Given the description of an element on the screen output the (x, y) to click on. 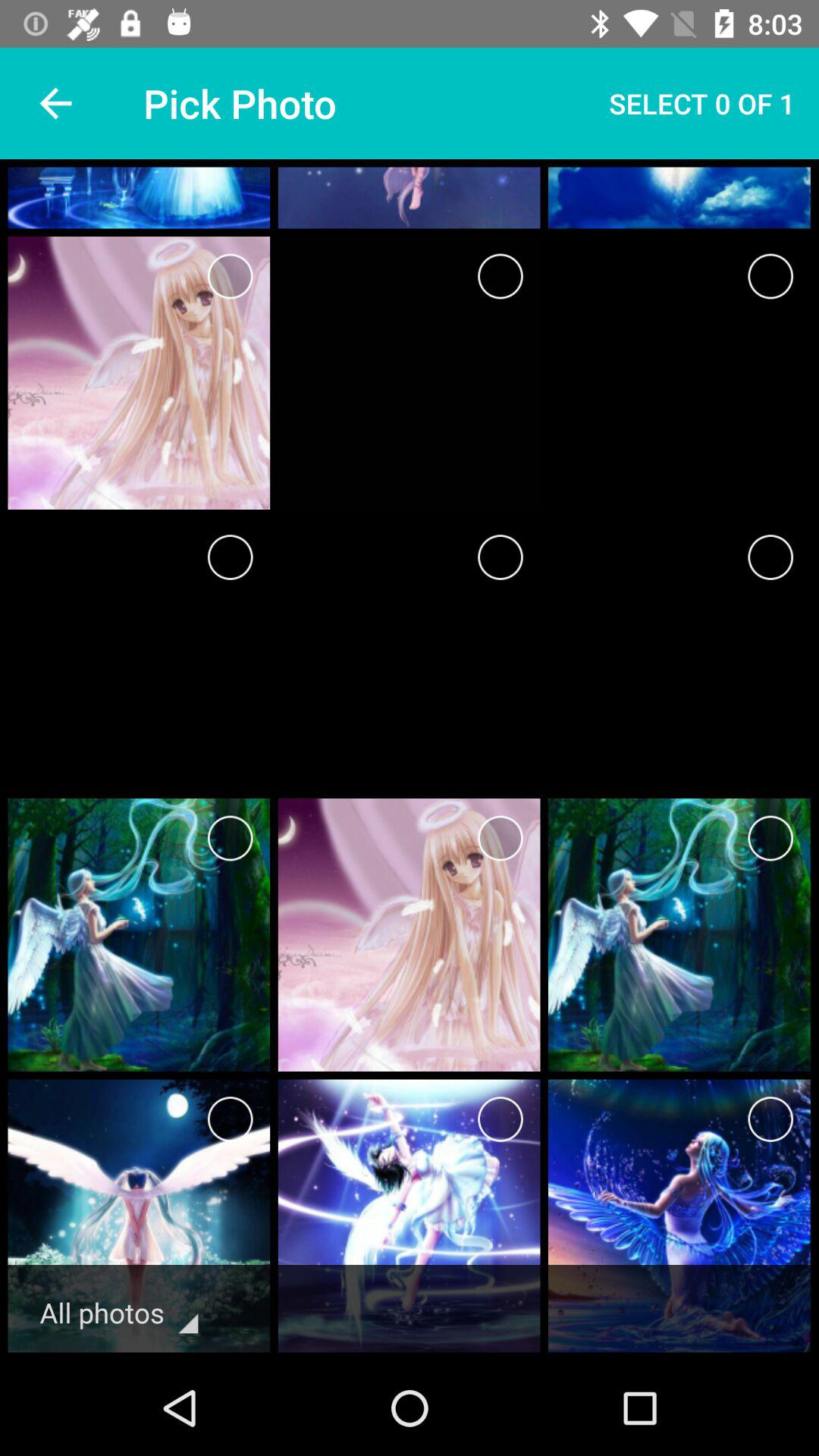
select photo (230, 557)
